Given the description of an element on the screen output the (x, y) to click on. 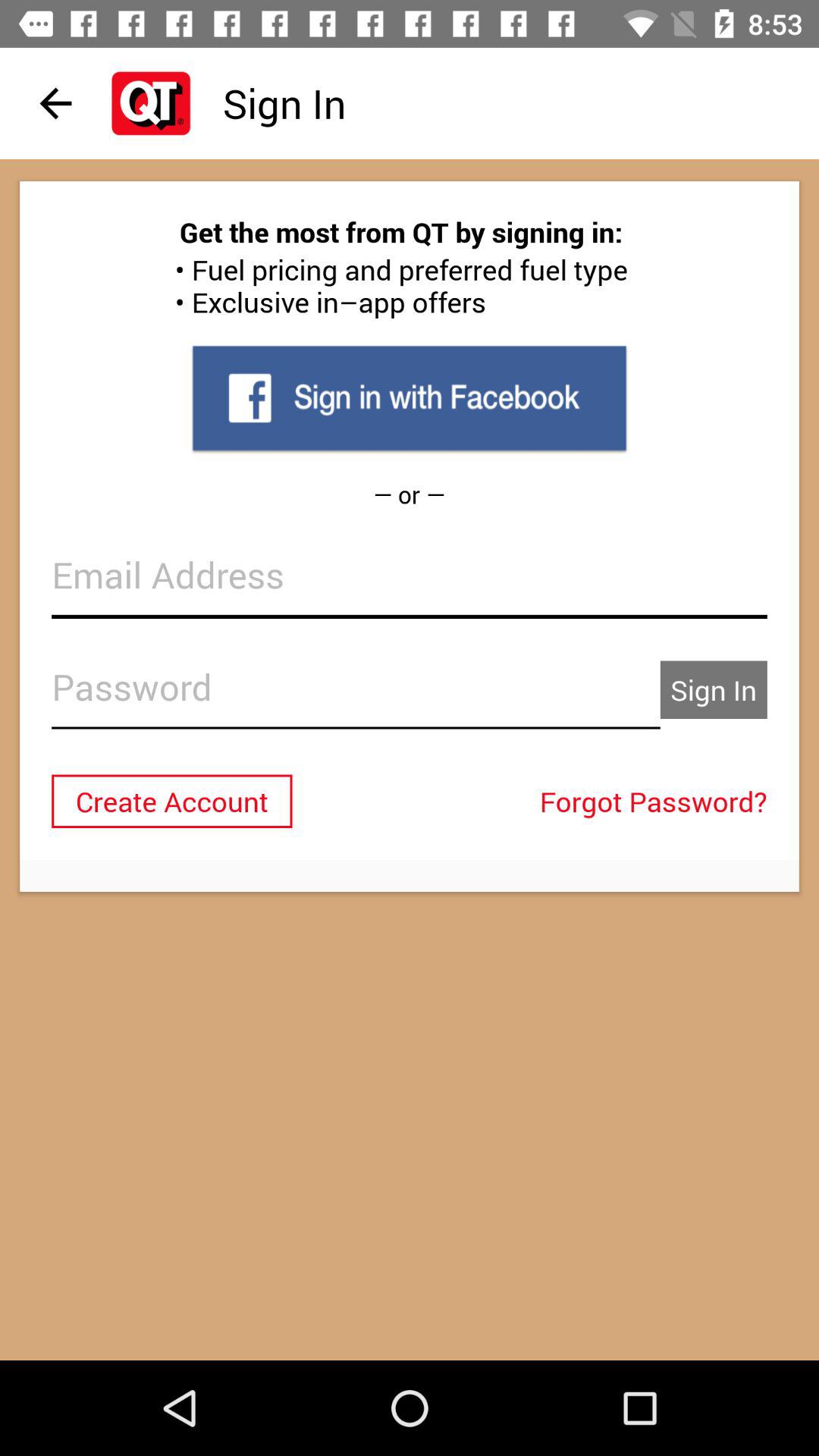
click item to the right of create account icon (657, 801)
